Given the description of an element on the screen output the (x, y) to click on. 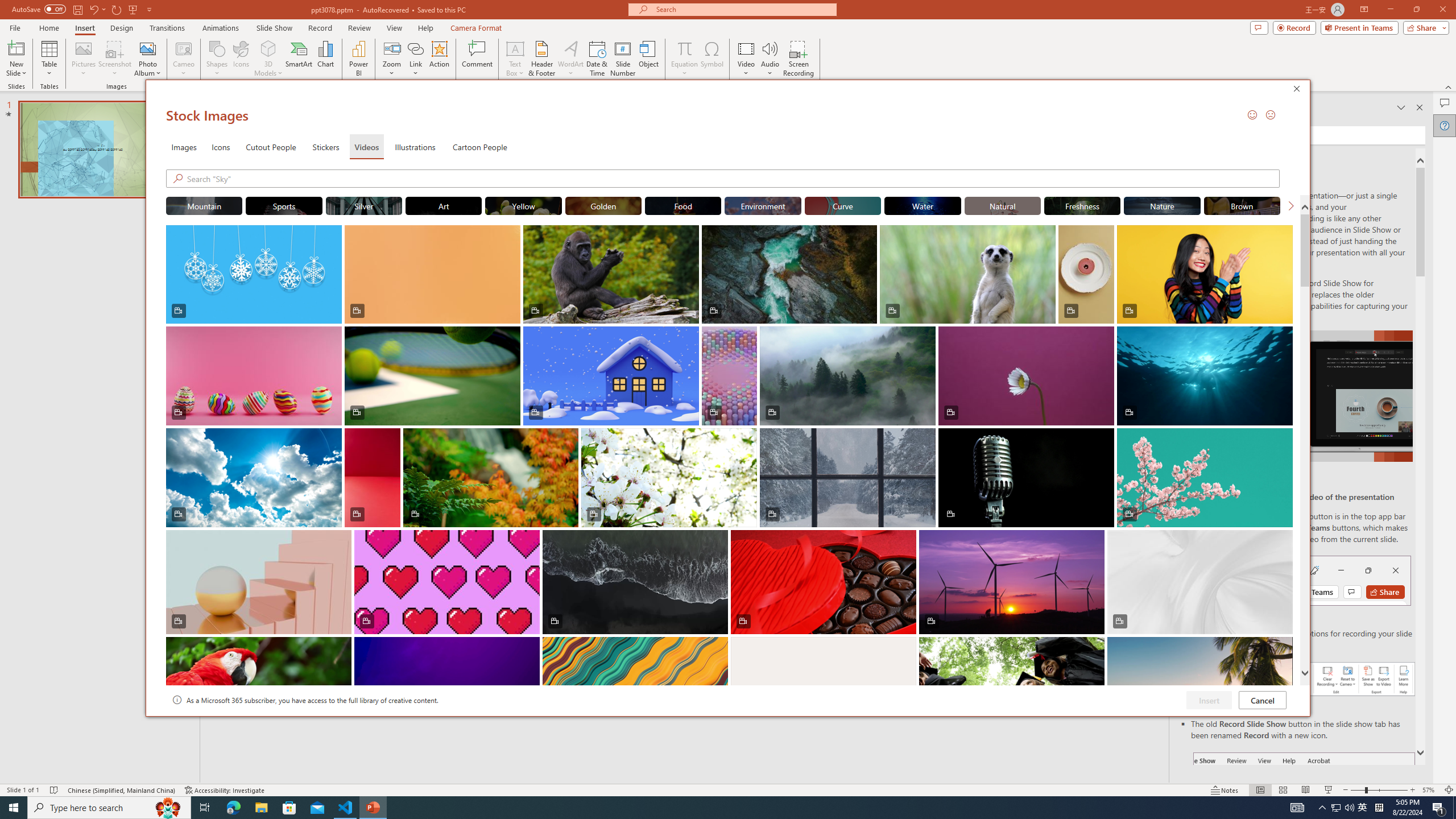
"Art" Stock Videos. (443, 205)
Link (415, 48)
"Water" Stock Videos. (921, 205)
